Given the description of an element on the screen output the (x, y) to click on. 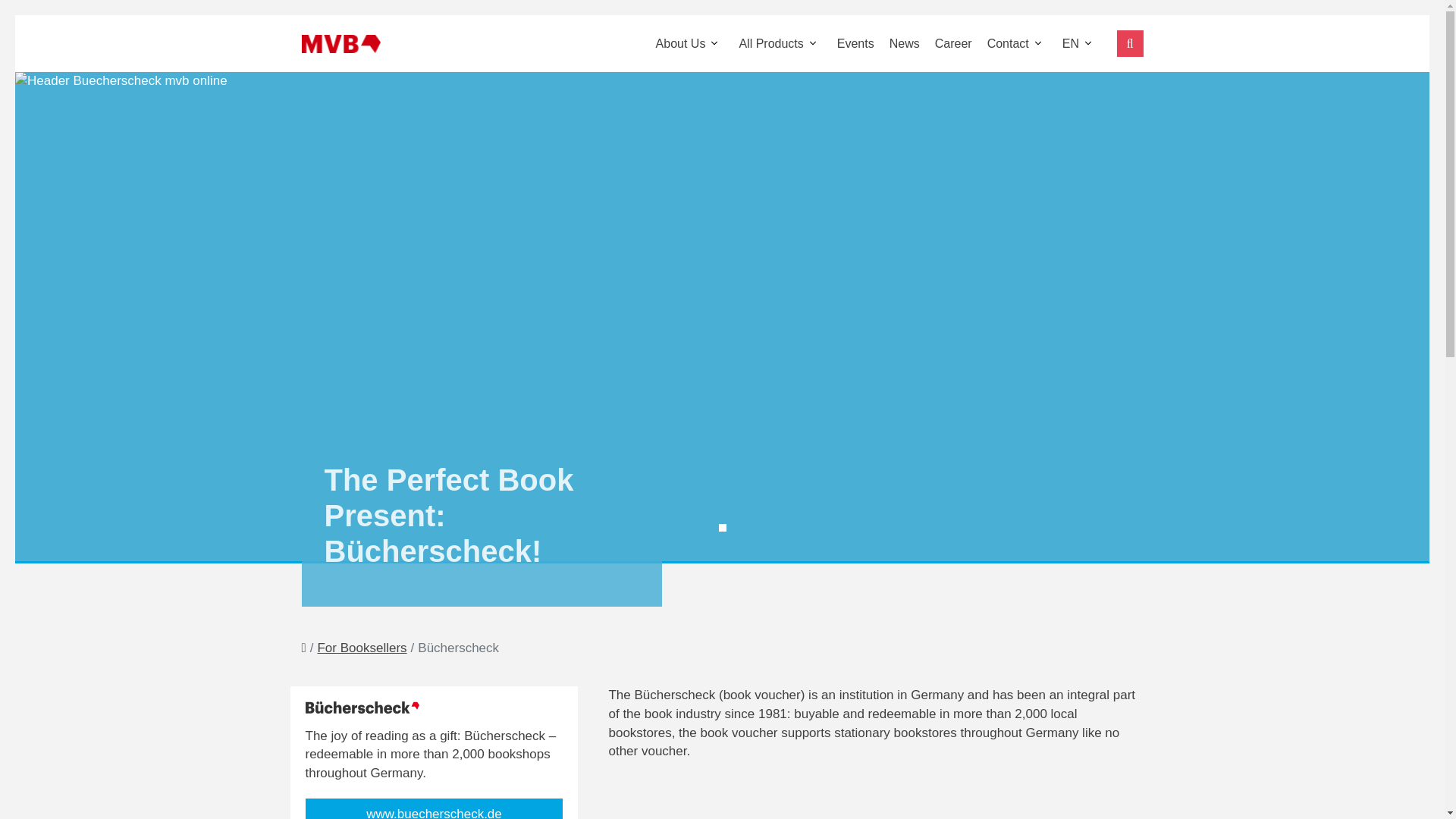
About Us (689, 43)
All Products (779, 43)
EN (1079, 43)
Events (855, 43)
Career (953, 43)
Contact (1016, 43)
News (904, 43)
